Given the description of an element on the screen output the (x, y) to click on. 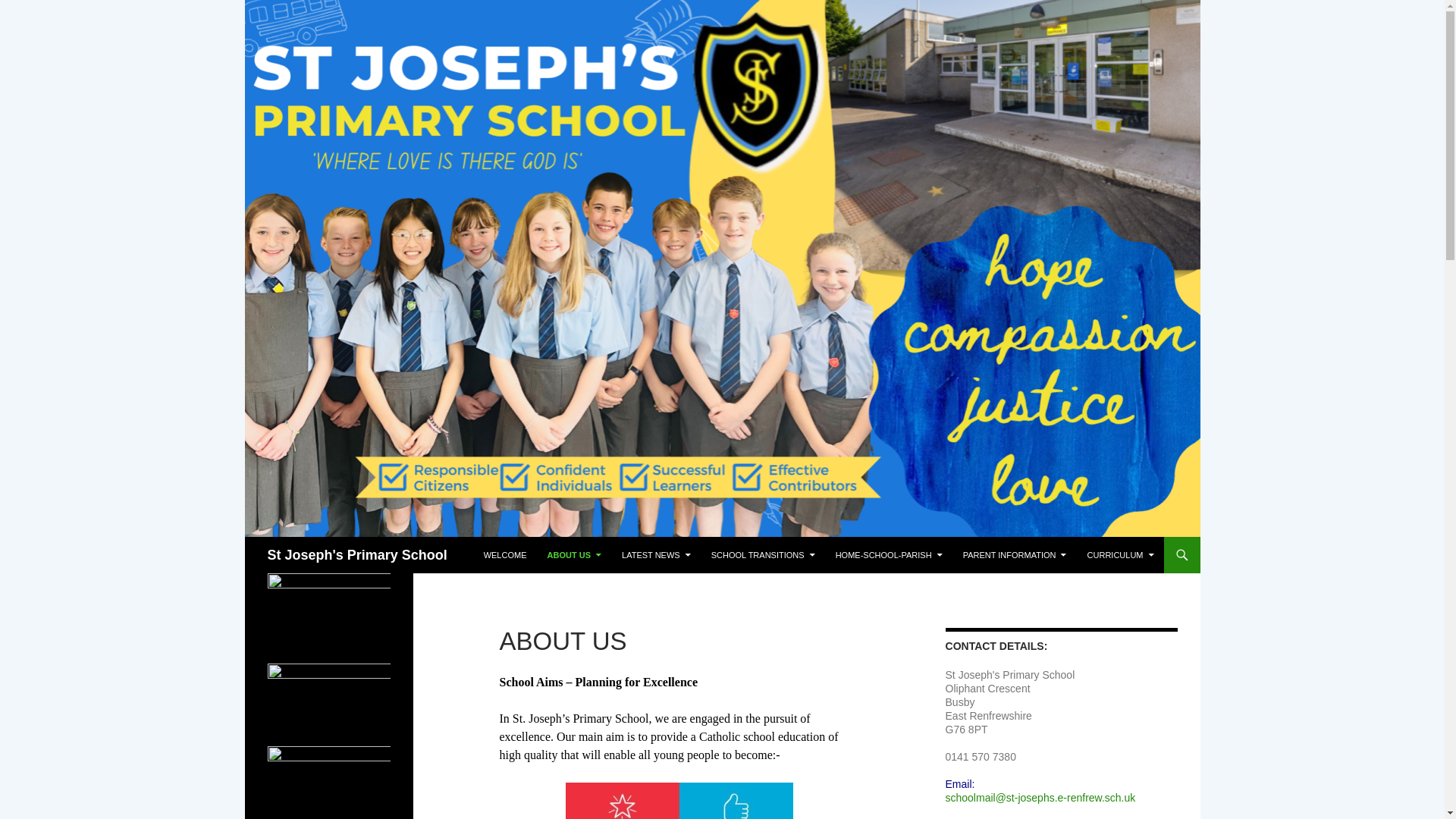
SCHOOL TRANSITIONS (762, 555)
St Joseph's Primary School (356, 555)
WELCOME (504, 555)
HOME-SCHOOL-PARISH (889, 555)
ABOUT US (574, 555)
LATEST NEWS (656, 555)
